Given the description of an element on the screen output the (x, y) to click on. 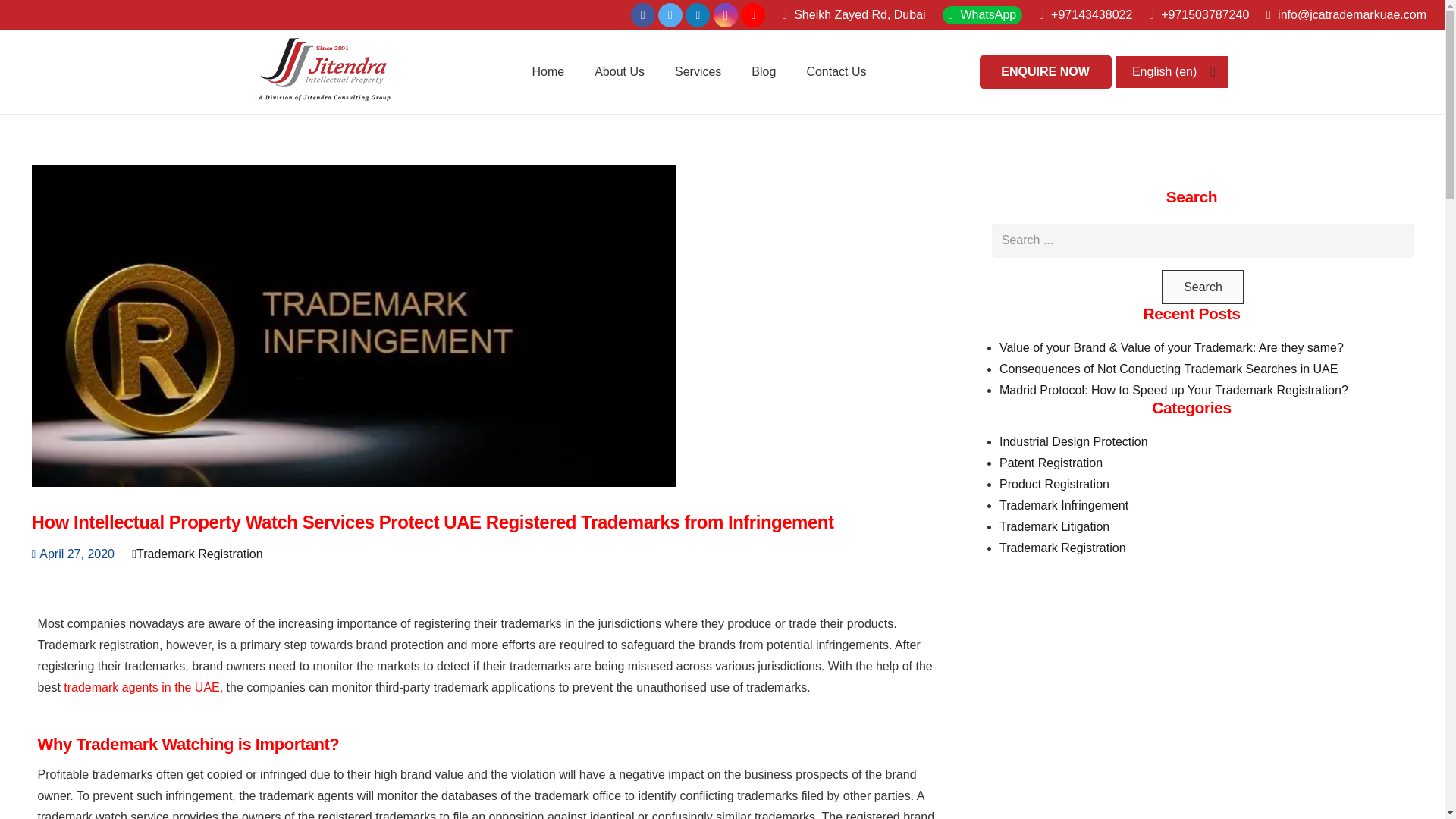
Sheikh Zayed Rd, Dubai (854, 14)
Home (547, 71)
LinkedIn (697, 15)
youtube (753, 15)
ENQUIRE NOW (1045, 72)
Contact Us (835, 71)
Services (697, 71)
Instagram (725, 15)
Facebook (642, 15)
About Us (619, 71)
Blog (763, 71)
Twitter (670, 15)
WhatsApp (982, 14)
